Given the description of an element on the screen output the (x, y) to click on. 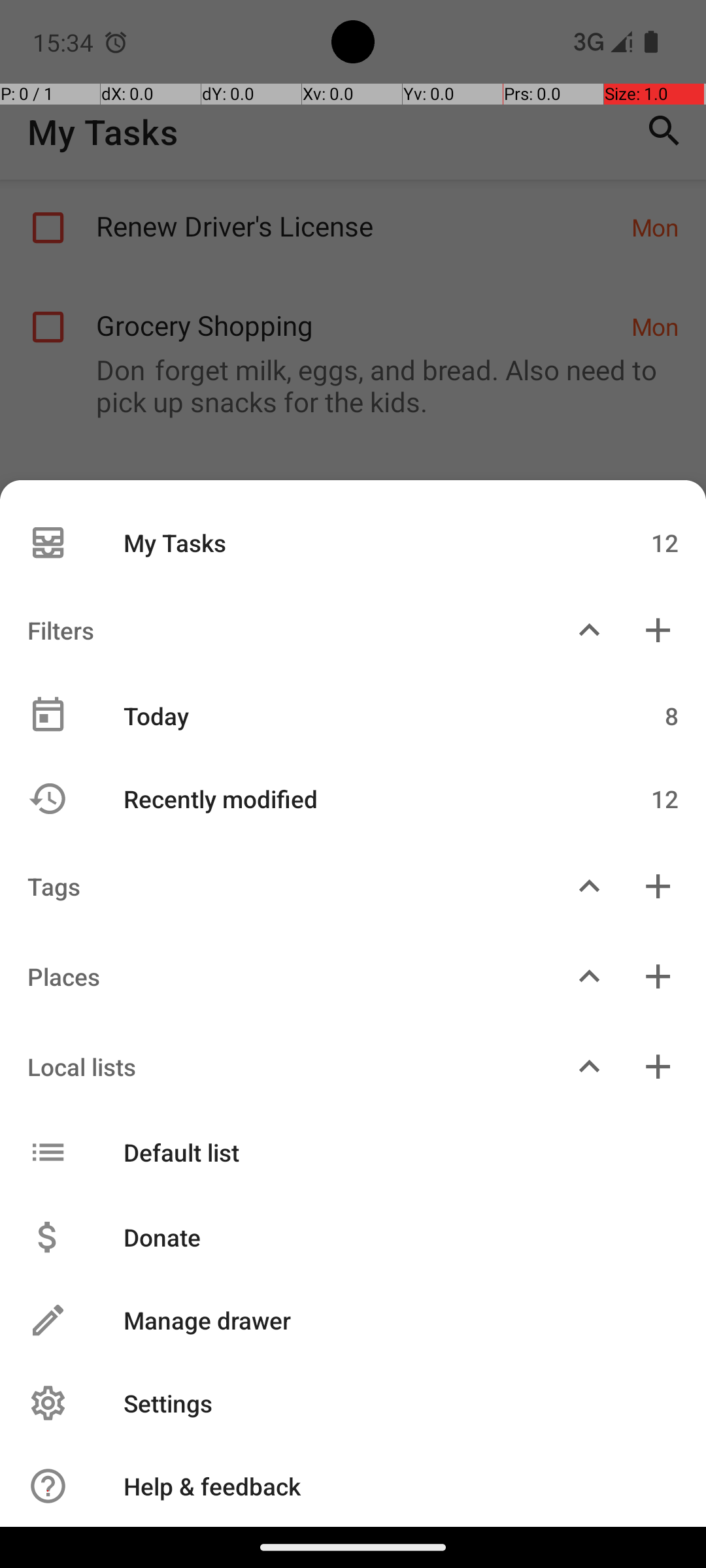
Filters Element type: android.widget.TextView (277, 630)
Recently modified Element type: android.widget.CheckedTextView (344, 798)
Places Element type: android.widget.TextView (277, 976)
Manage drawer Element type: android.widget.TextView (387, 1319)
